Given the description of an element on the screen output the (x, y) to click on. 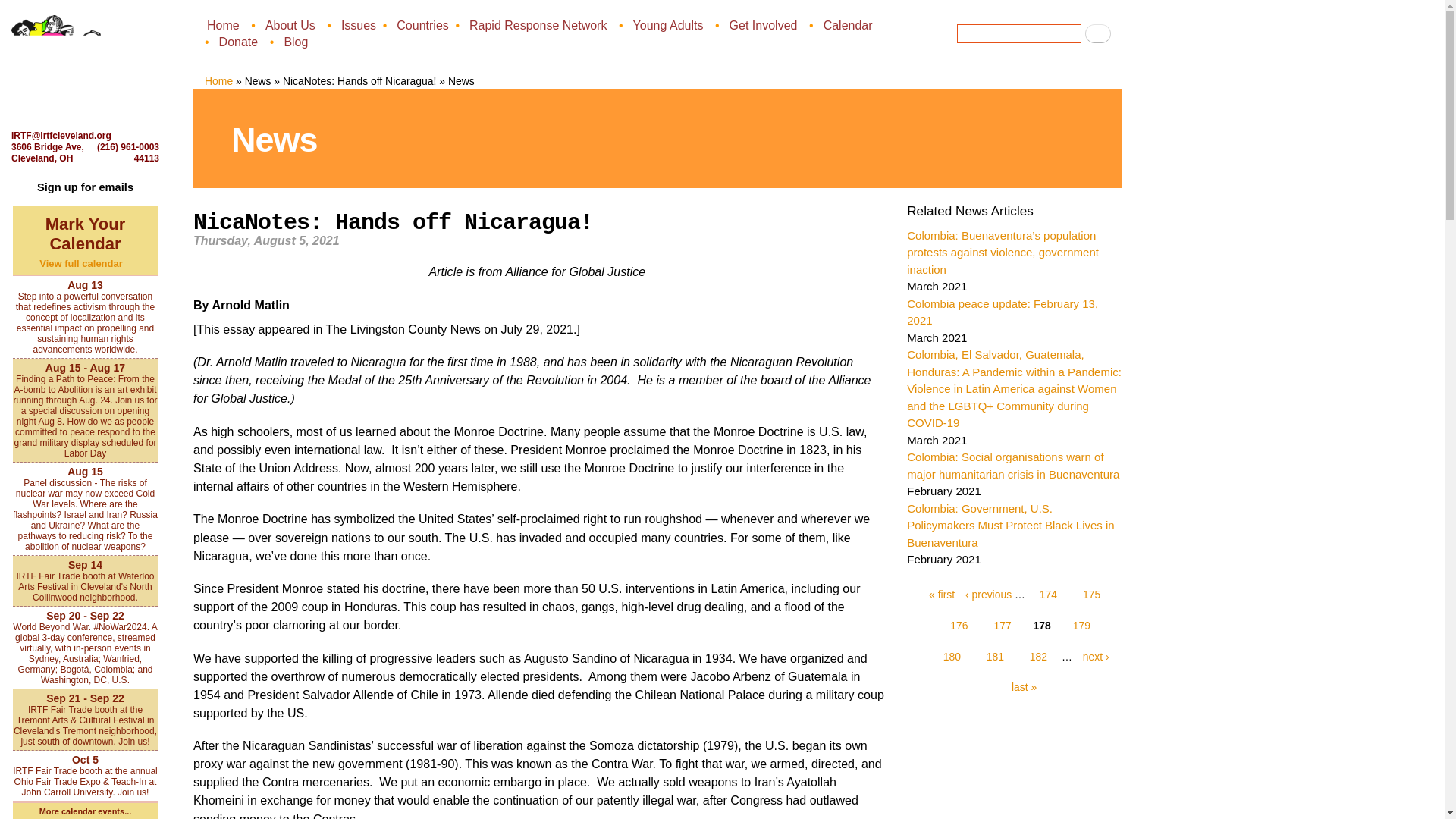
Go to last page (1020, 686)
Go to next page (1092, 656)
Rapid Response Network (539, 24)
Go to page 175 (1091, 594)
Go to previous page (988, 594)
Go to page 179 (1081, 625)
Home (224, 24)
About Us (291, 24)
Get Involved (764, 24)
Go to page 181 (994, 656)
